Given the description of an element on the screen output the (x, y) to click on. 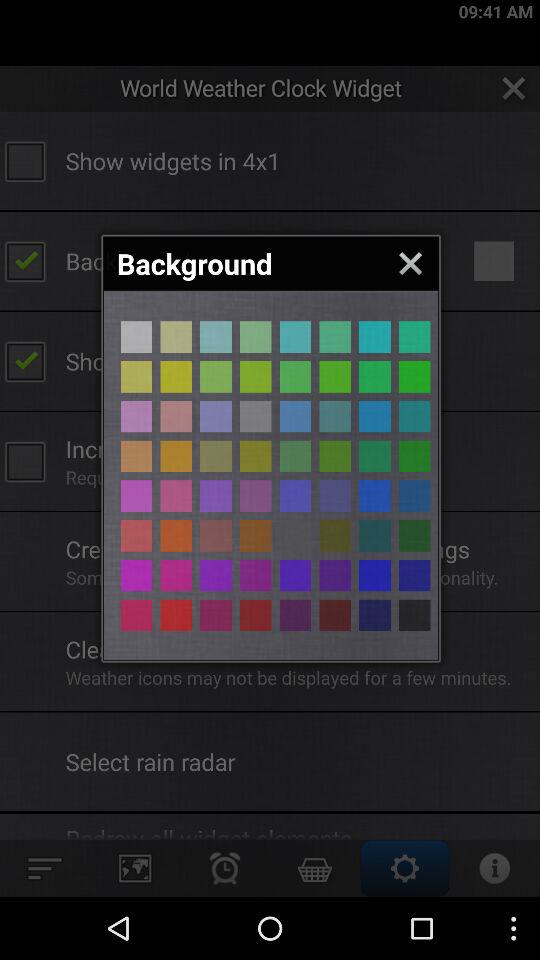
select background colour (255, 535)
